Given the description of an element on the screen output the (x, y) to click on. 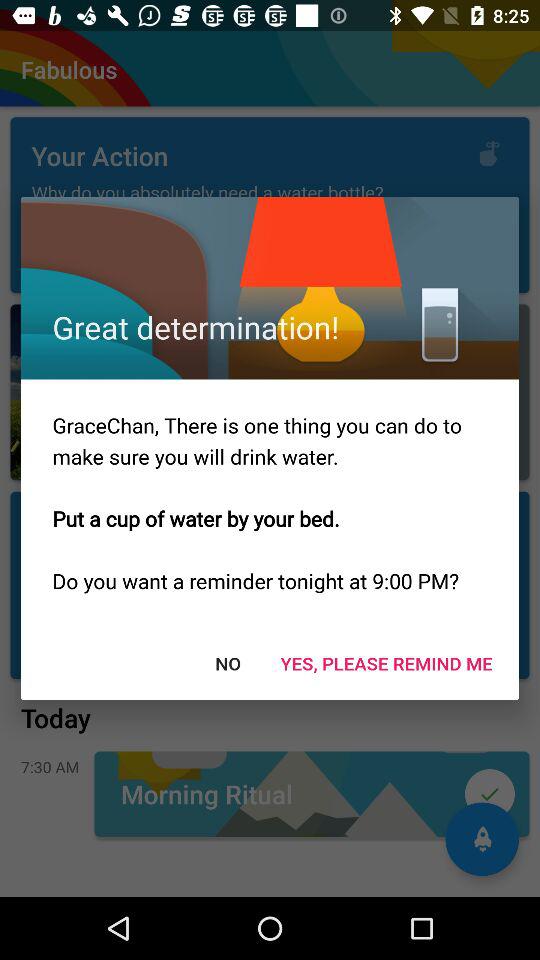
turn on the icon below the gracechan there is icon (386, 662)
